Given the description of an element on the screen output the (x, y) to click on. 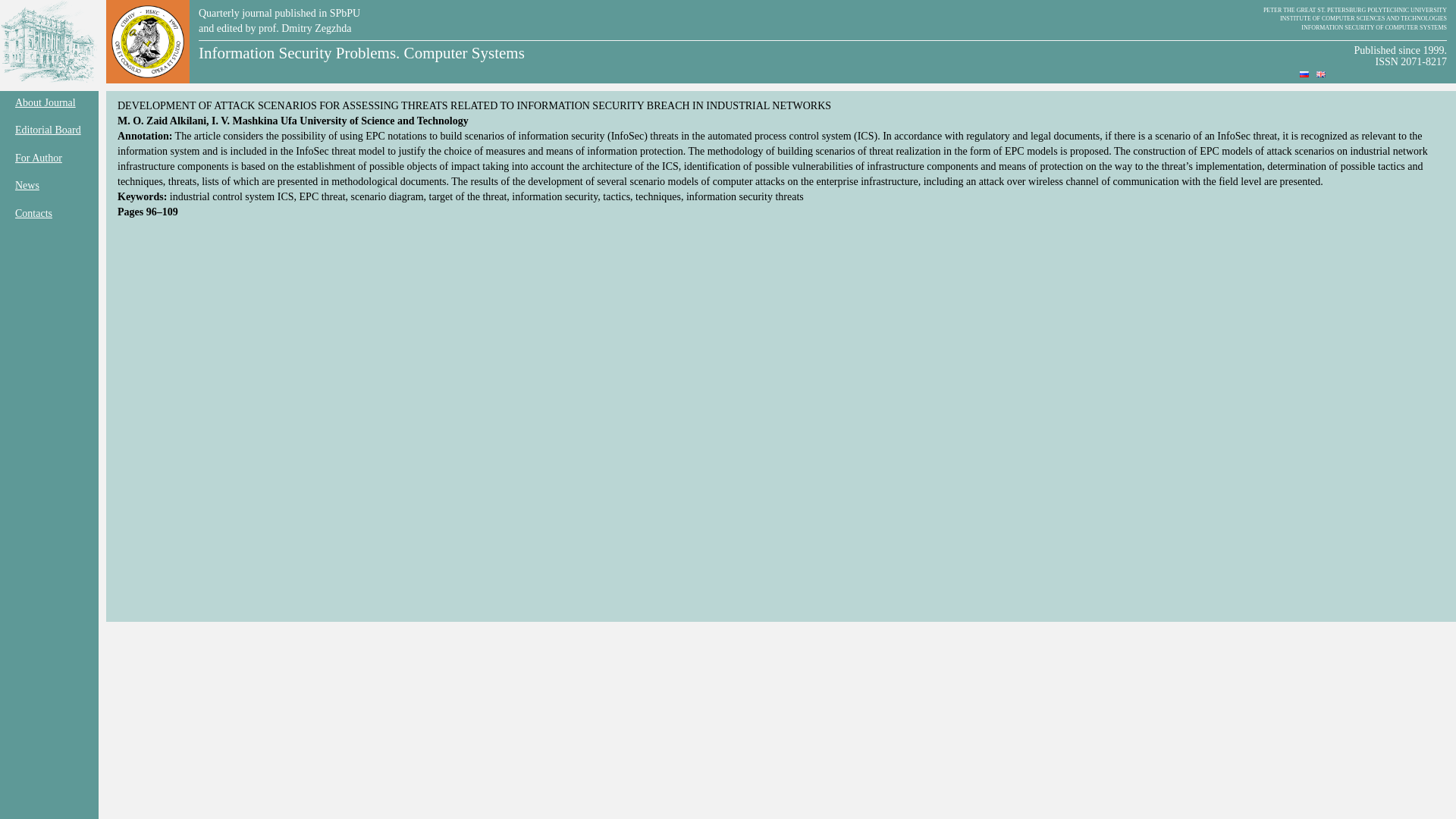
News (49, 185)
About Journal (49, 102)
Editorial Board (49, 129)
Contacts (49, 213)
Go to www.spbstu.ru (49, 41)
Go to ibks.ftk.spbstu.ru (148, 41)
For Author (49, 157)
